Given the description of an element on the screen output the (x, y) to click on. 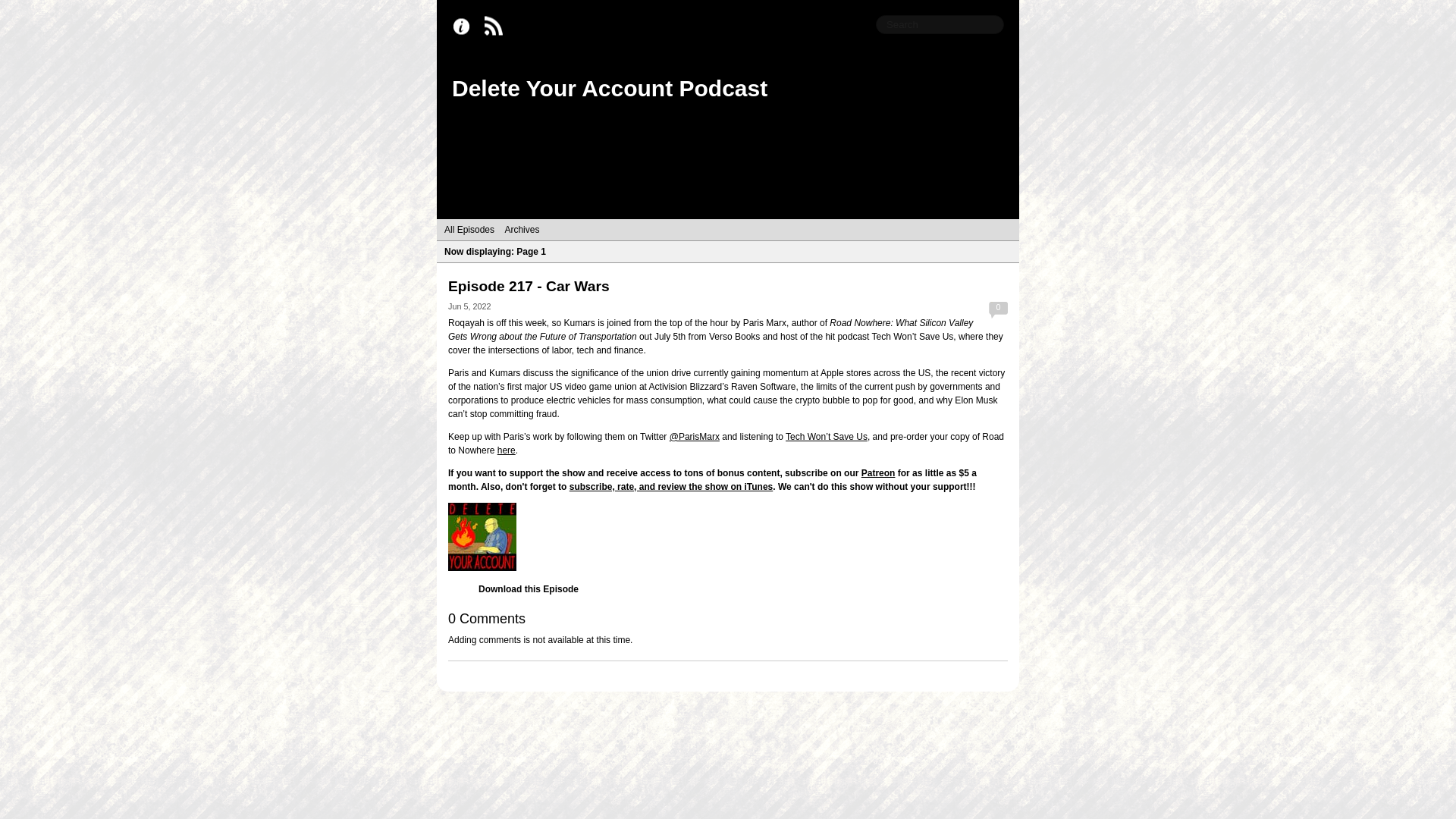
Delete Your Account Podcast (609, 88)
RSS Feed (496, 26)
Libsyn Player (727, 536)
